Given the description of an element on the screen output the (x, y) to click on. 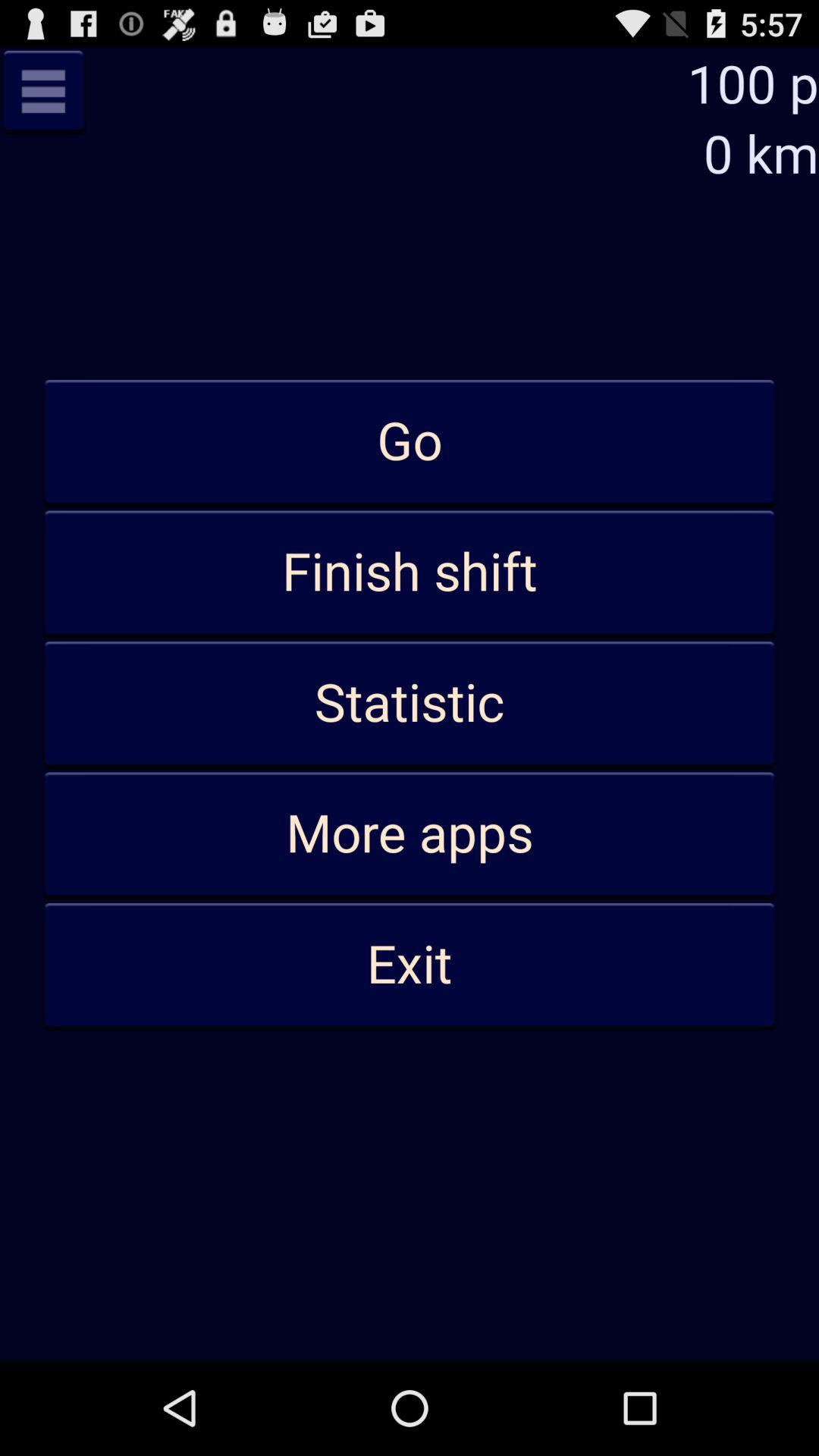
swipe to finish shift icon (409, 572)
